Given the description of an element on the screen output the (x, y) to click on. 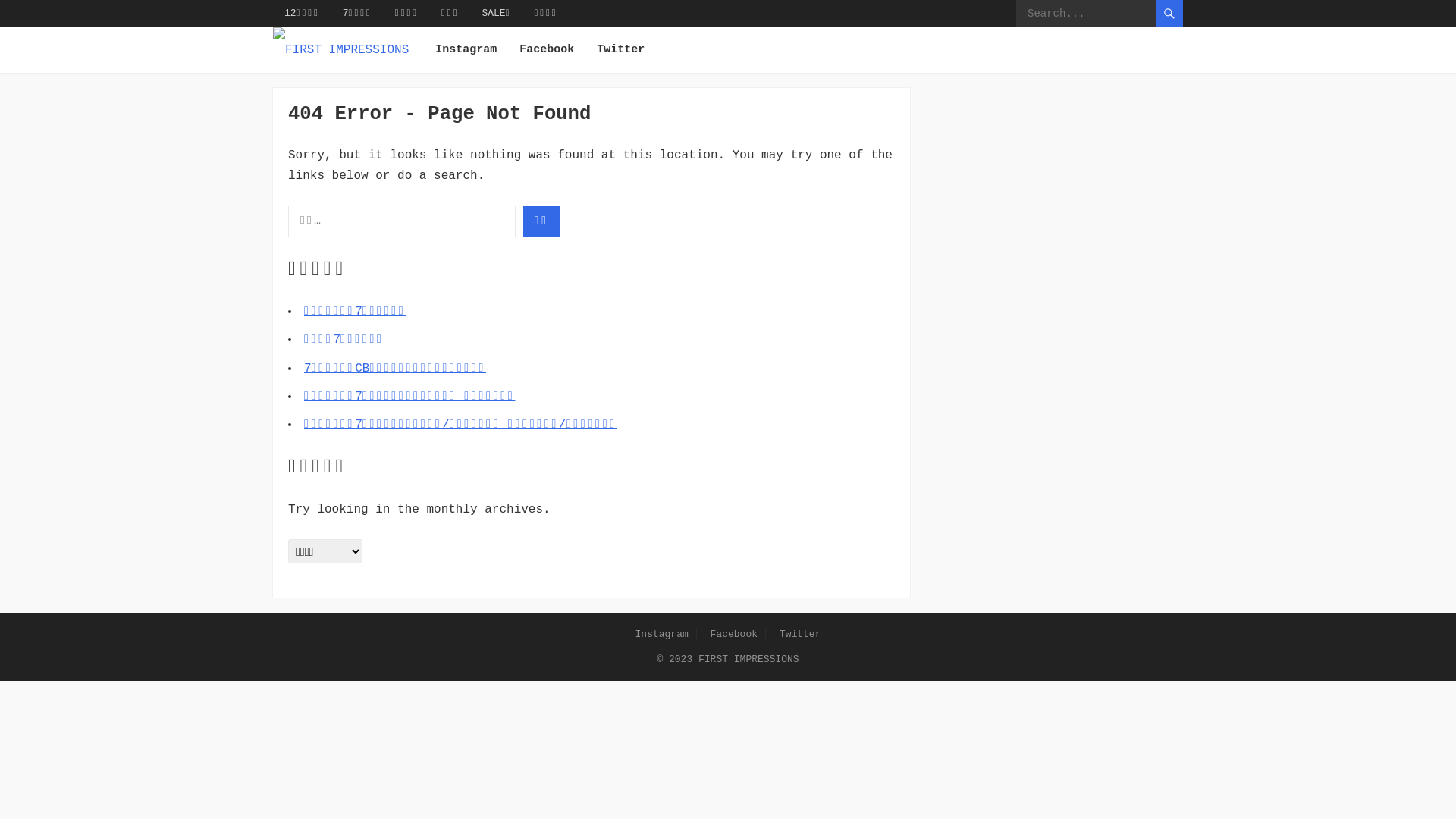
Twitter Element type: text (620, 49)
Facebook Element type: text (733, 634)
Facebook Element type: text (546, 49)
FIRST IMPRESSIONS Element type: text (748, 659)
Twitter Element type: text (800, 634)
Instagram Element type: text (465, 49)
Instagram Element type: text (661, 634)
